Given the description of an element on the screen output the (x, y) to click on. 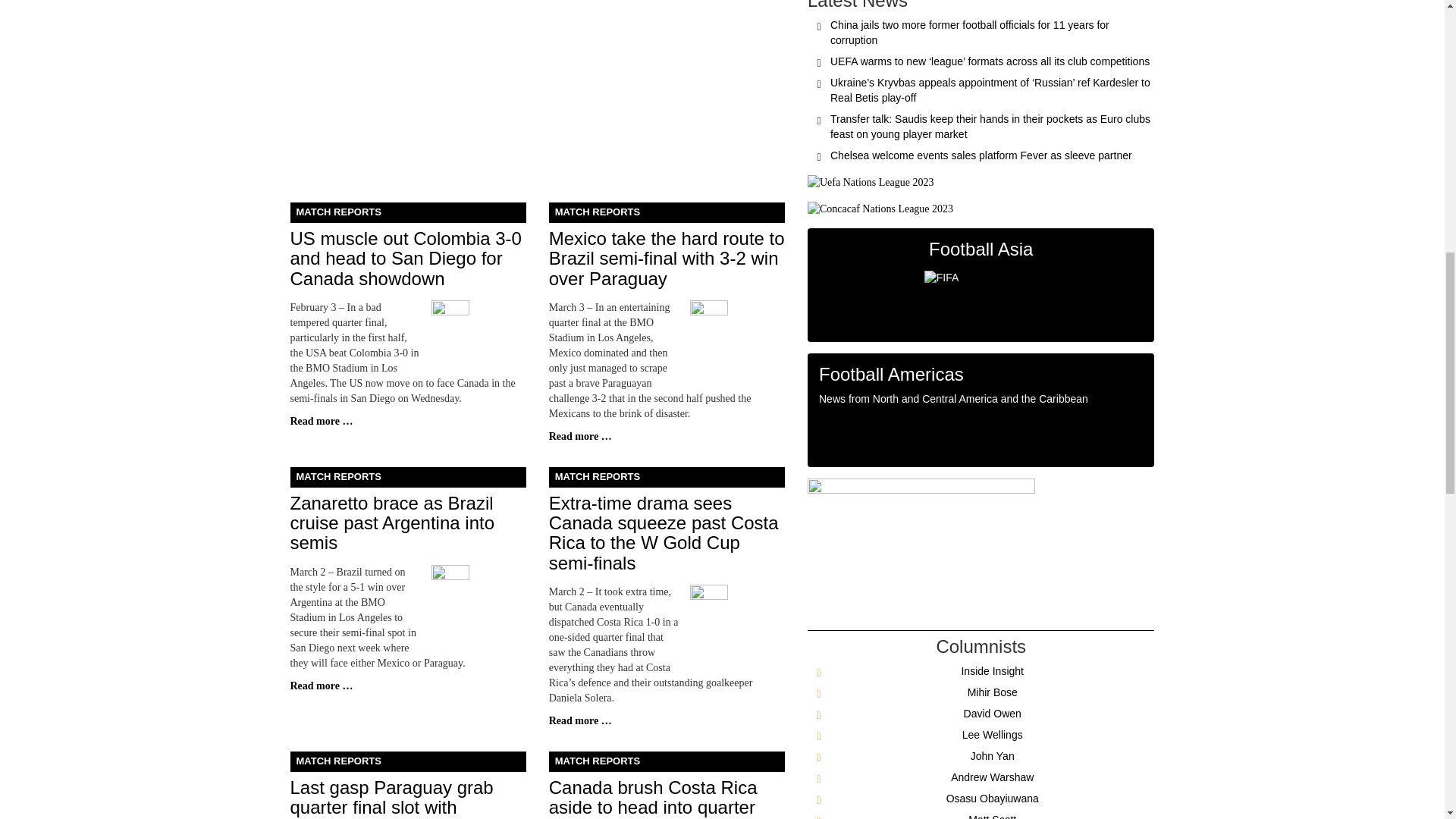
MATCH REPORTS (666, 476)
MATCH REPORTS (407, 761)
Zanaretto brace as Brazil cruise past Argentina into semis (392, 523)
MATCH REPORTS (666, 212)
MATCH REPORTS (407, 476)
